Given the description of an element on the screen output the (x, y) to click on. 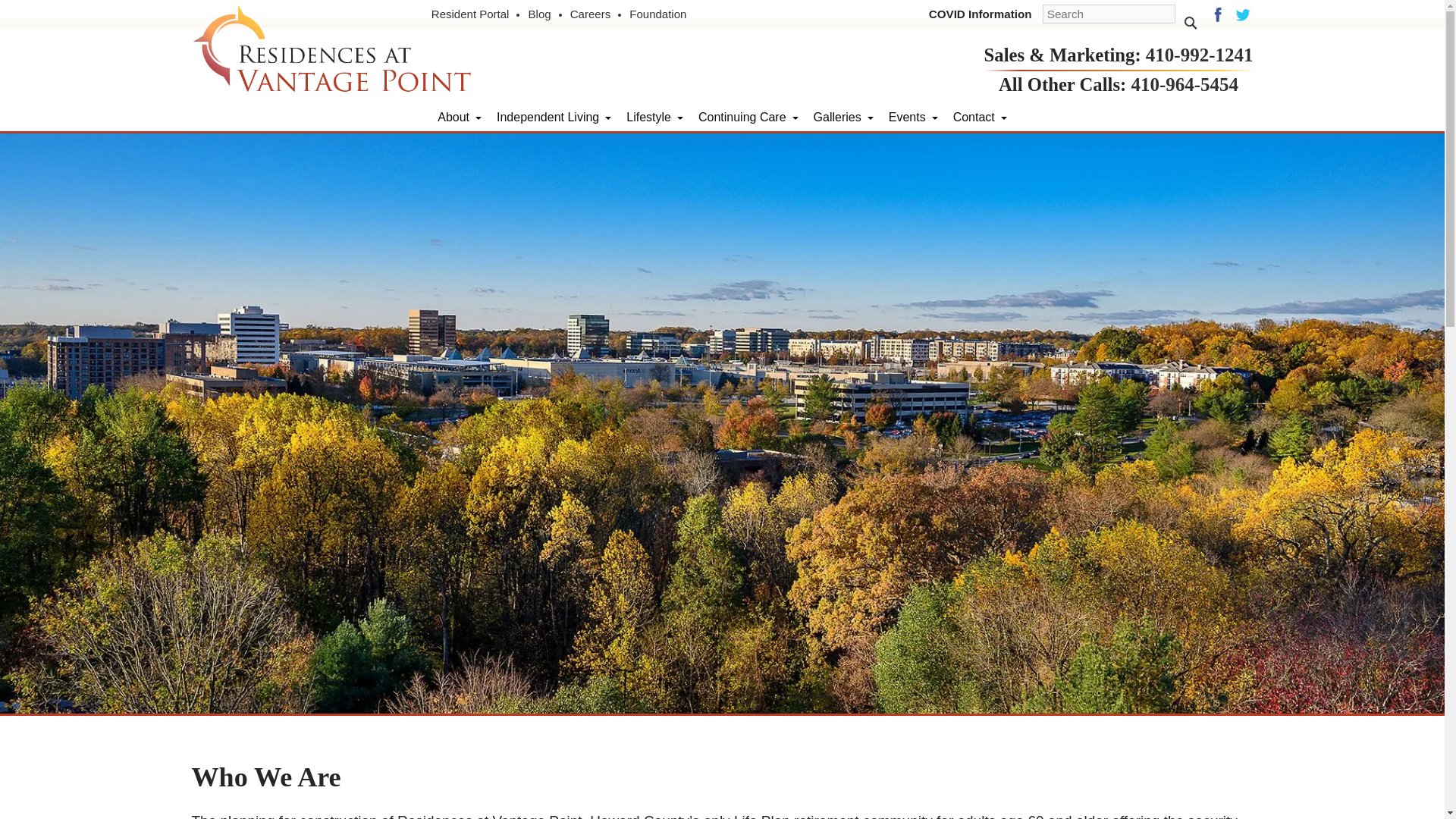
Careers (596, 13)
link will open in a new tab (658, 13)
Resident Portal (476, 13)
Blog (546, 13)
